Given the description of an element on the screen output the (x, y) to click on. 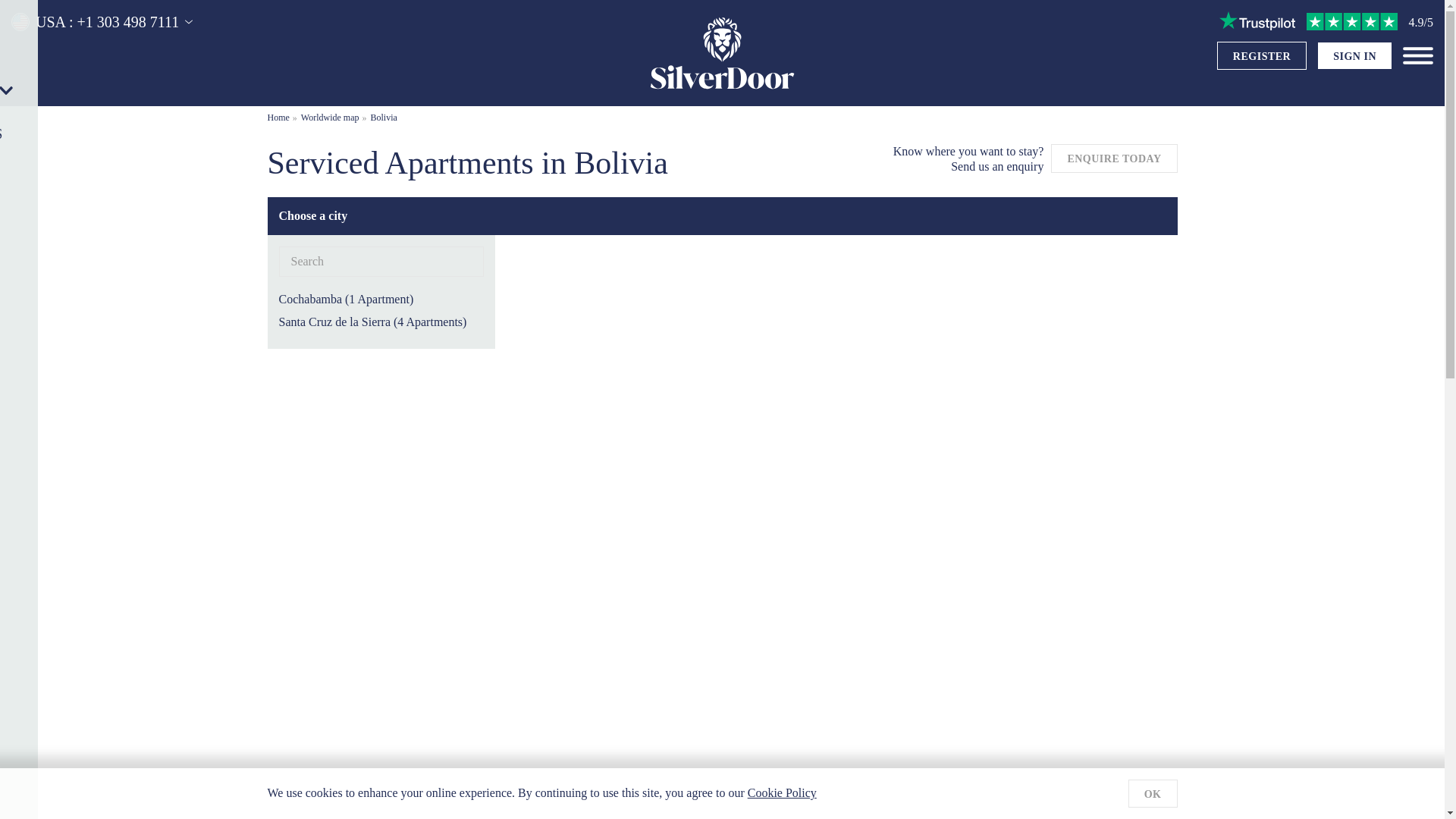
SIGN IN (1354, 55)
Worldwide map (330, 117)
ENQUIRE TODAY (1113, 158)
REGISTER (1261, 55)
Bolivia (384, 117)
ENQUIRE TODAY (1113, 155)
Home (277, 117)
